Given the description of an element on the screen output the (x, y) to click on. 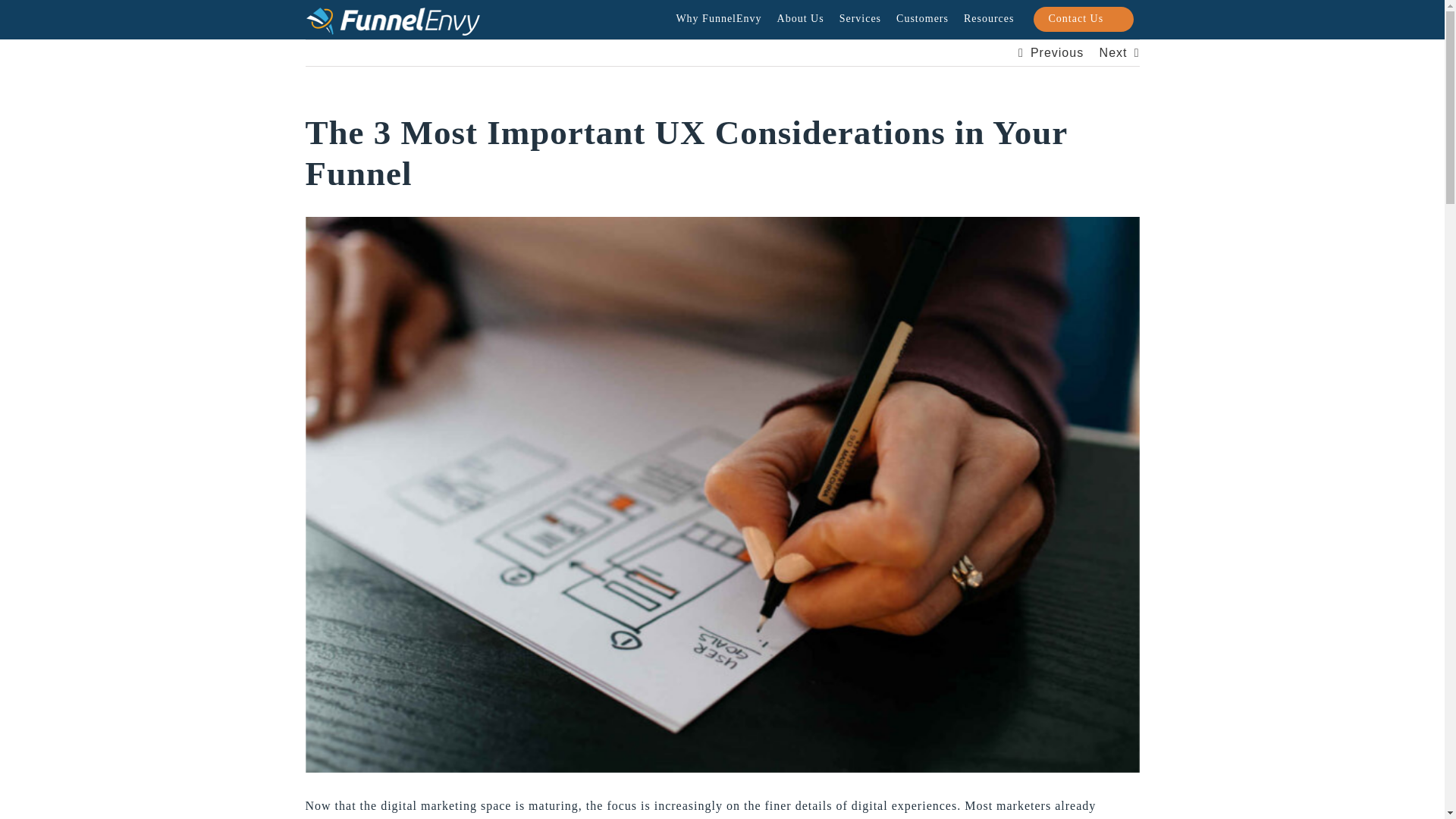
About Us (800, 19)
Services (859, 19)
Resources (989, 19)
Why FunnelEnvy (718, 19)
Customers (922, 19)
Contact Us (1082, 18)
